Given the description of an element on the screen output the (x, y) to click on. 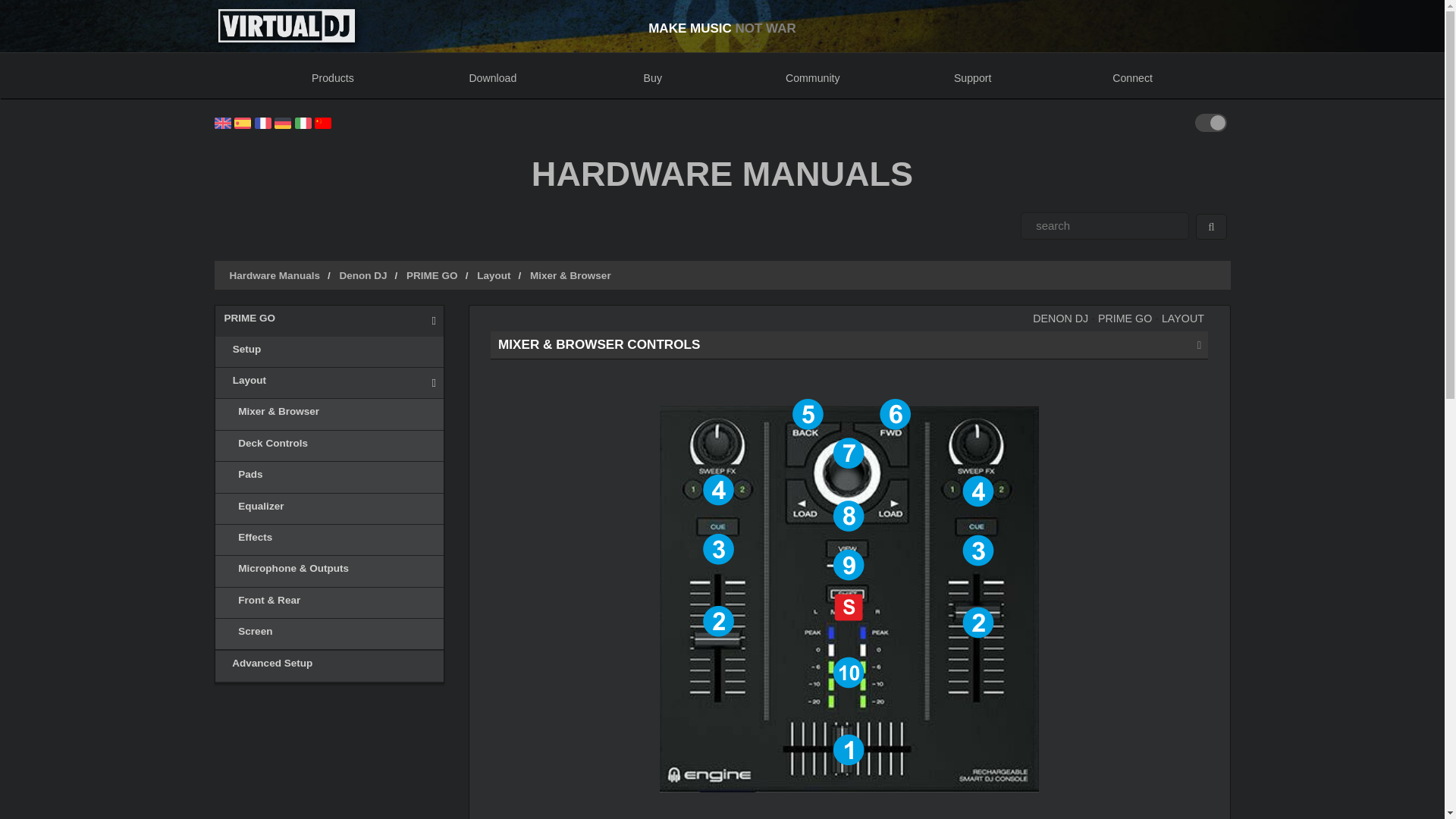
Products (331, 75)
Spanish language (242, 121)
German language (283, 121)
Buy (651, 75)
Chinese language (322, 121)
Italian language (302, 121)
French language (262, 121)
English (222, 121)
Download (491, 75)
